Given the description of an element on the screen output the (x, y) to click on. 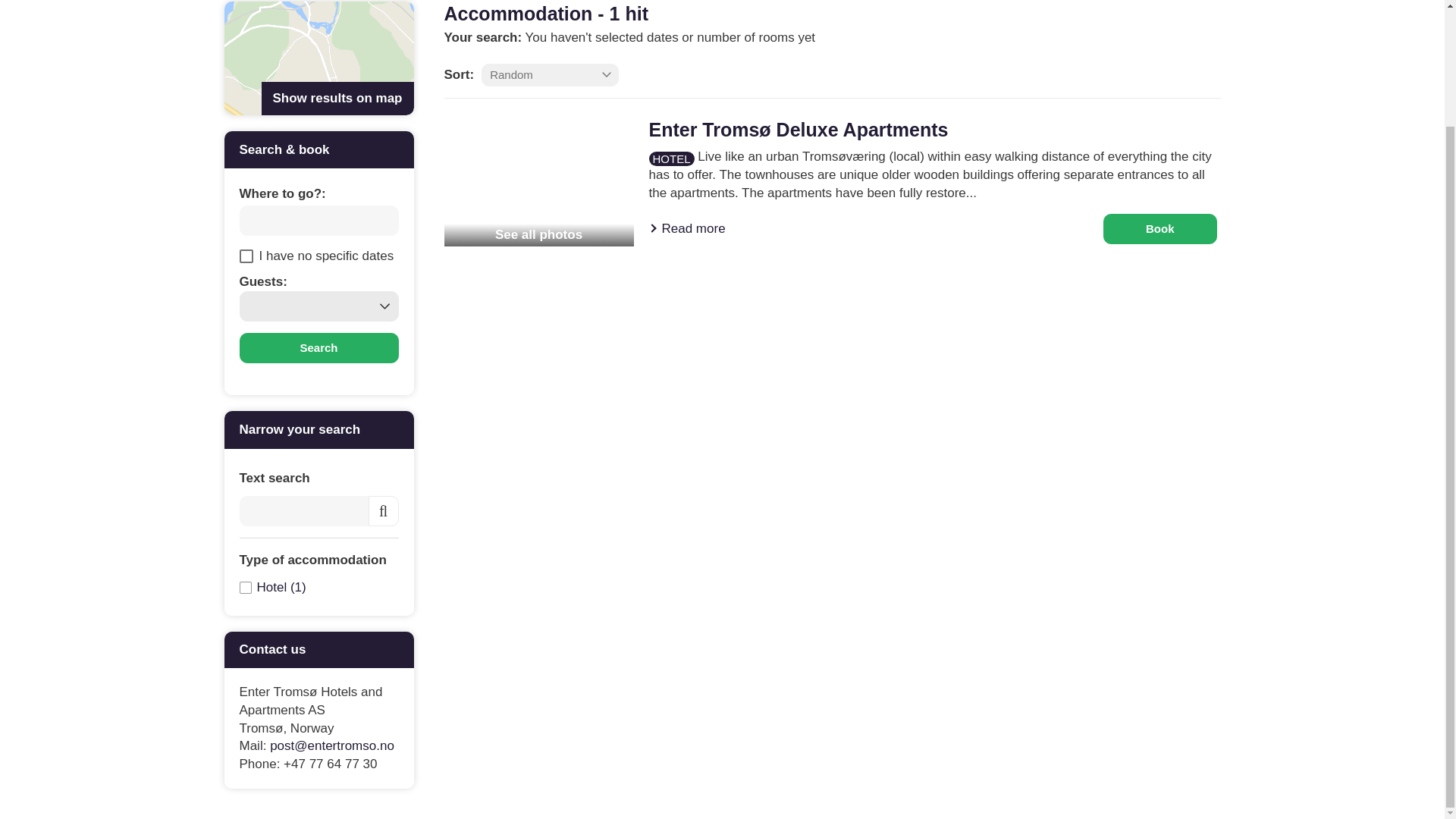
See all photos (538, 181)
Show results on map (318, 58)
Search (319, 347)
Where to go? (319, 220)
Read more (687, 228)
Book (1160, 228)
Type of accommodation (319, 560)
